Given the description of an element on the screen output the (x, y) to click on. 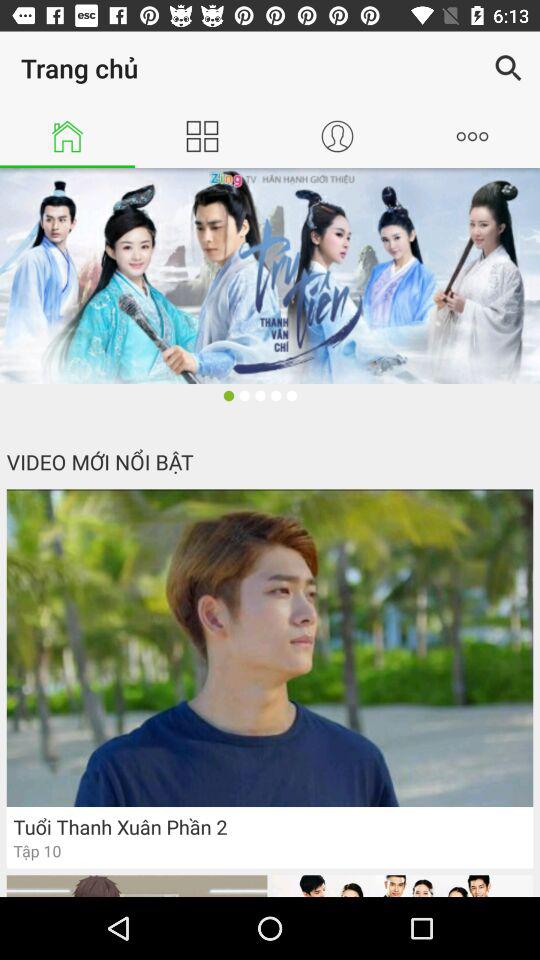
click on the third button from the top left corner (337, 135)
